Given the description of an element on the screen output the (x, y) to click on. 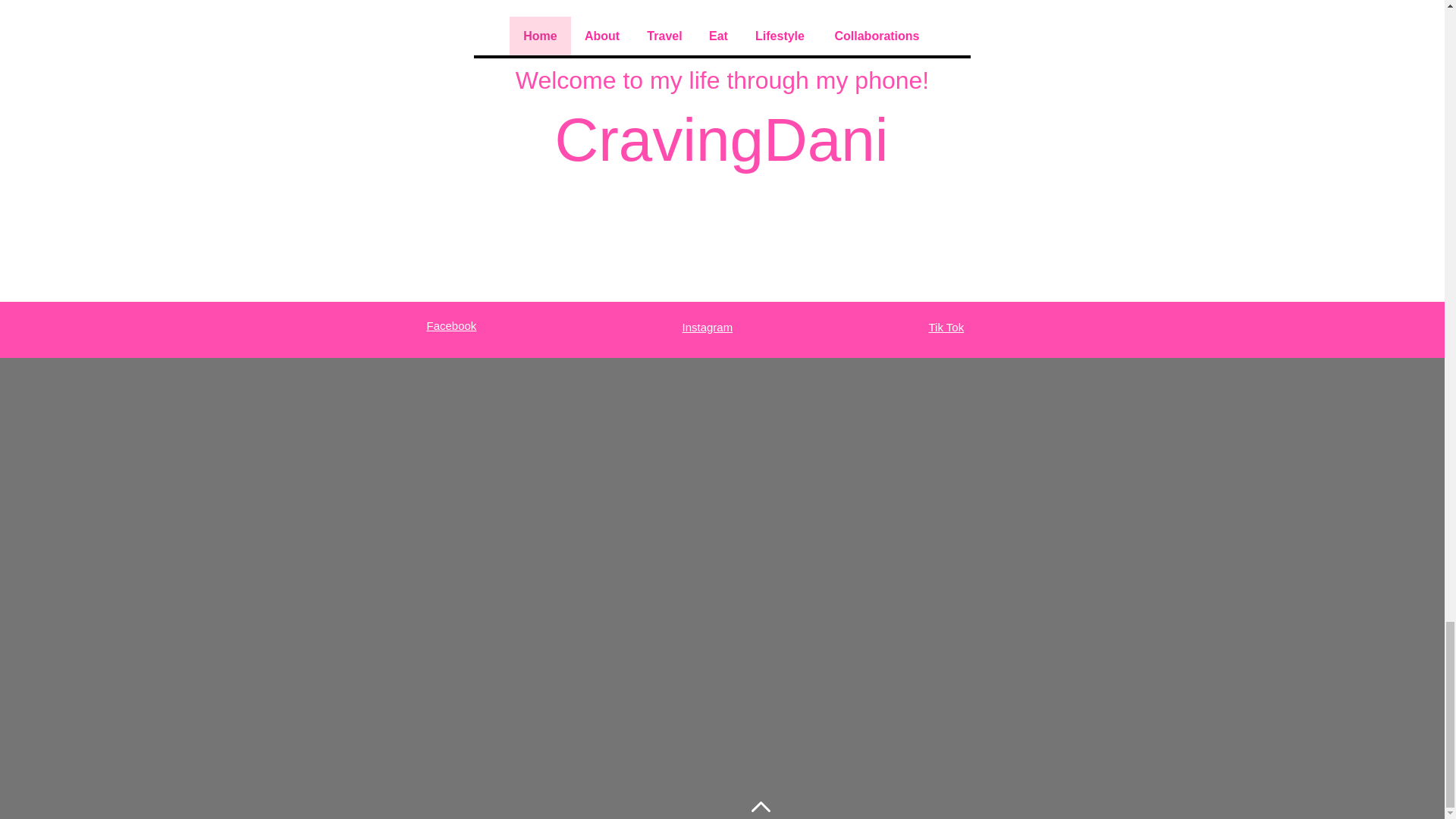
Tik Tok (945, 327)
Facebook (451, 325)
Instagram (707, 327)
